Given the description of an element on the screen output the (x, y) to click on. 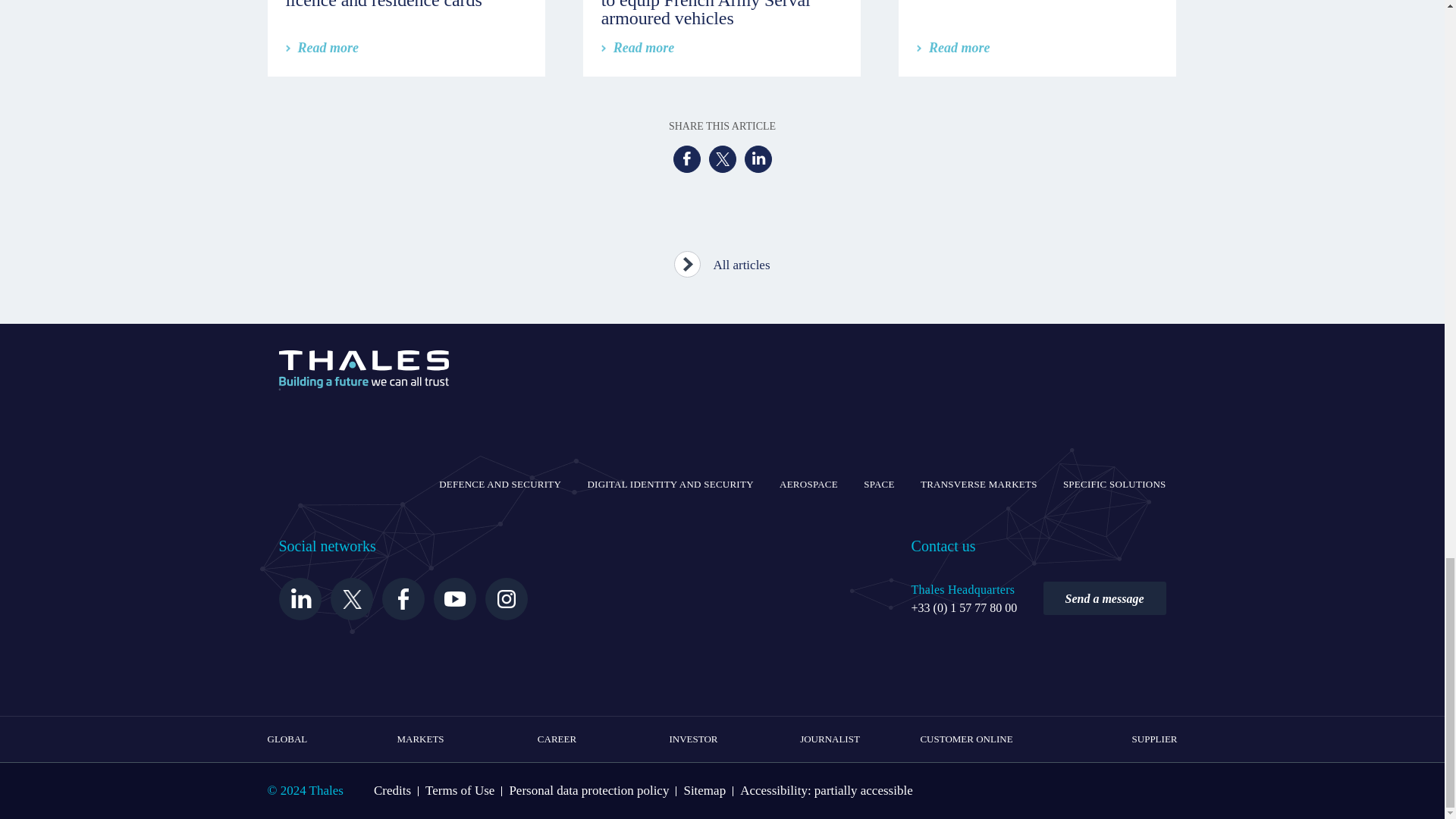
LinkedIn (757, 158)
Facebook (686, 158)
DIGITAL IDENTITY AND SECURITY (669, 484)
DEFENCE AND SECURITY (499, 484)
Read more (638, 47)
Twitter (721, 158)
Accessibility level of this web site (825, 789)
All articles (722, 260)
Read more (321, 47)
Read more (953, 47)
